Given the description of an element on the screen output the (x, y) to click on. 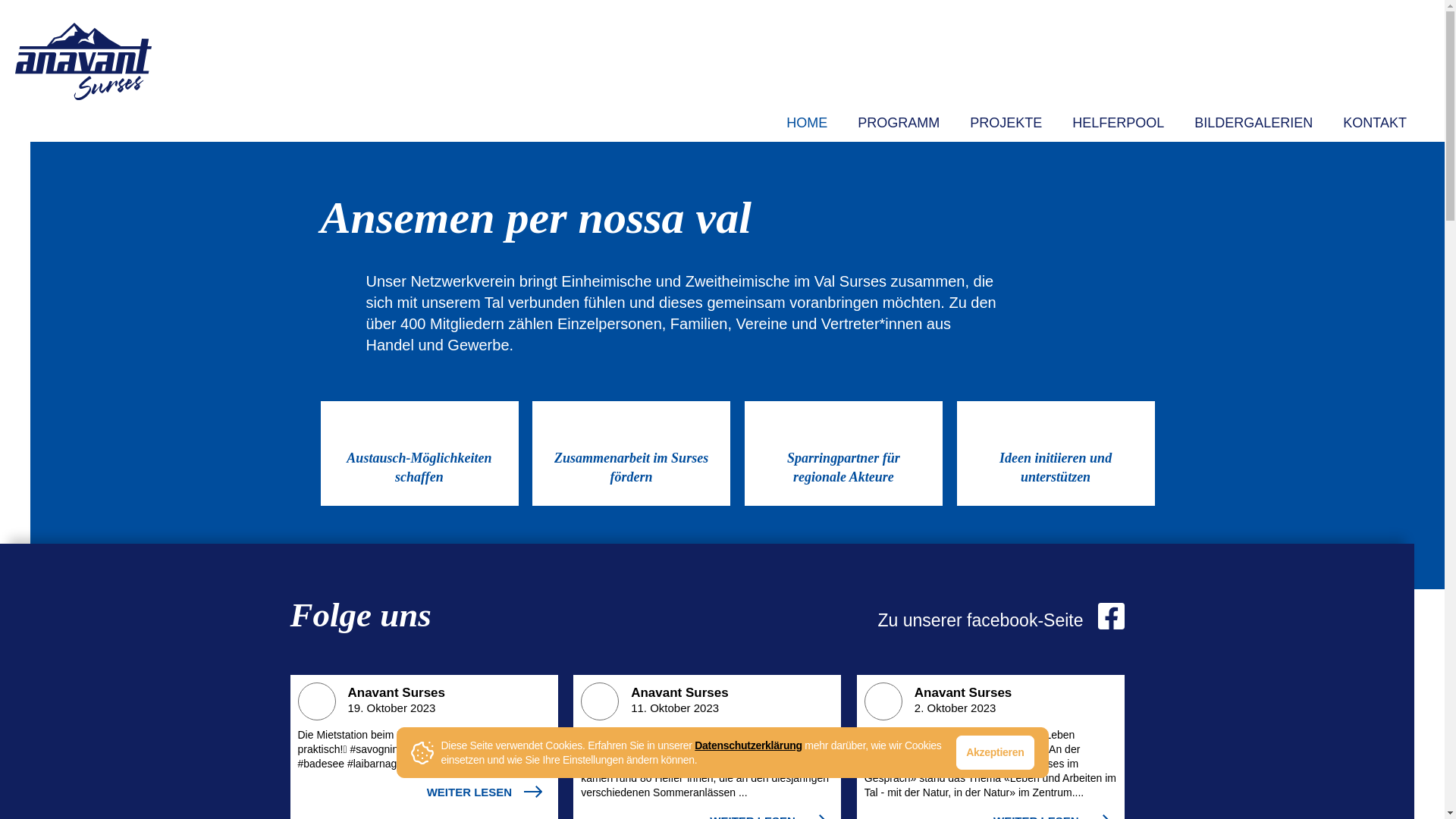
Akzeptieren Element type: text (994, 752)
PROJEKTE Element type: text (1005, 122)
PROGRAMM Element type: text (898, 122)
HOME Element type: text (806, 122)
KONTAKT Element type: text (1374, 122)
BILDERGALERIEN Element type: text (1253, 122)
HELFERPOOL Element type: text (1118, 122)
